Given the description of an element on the screen output the (x, y) to click on. 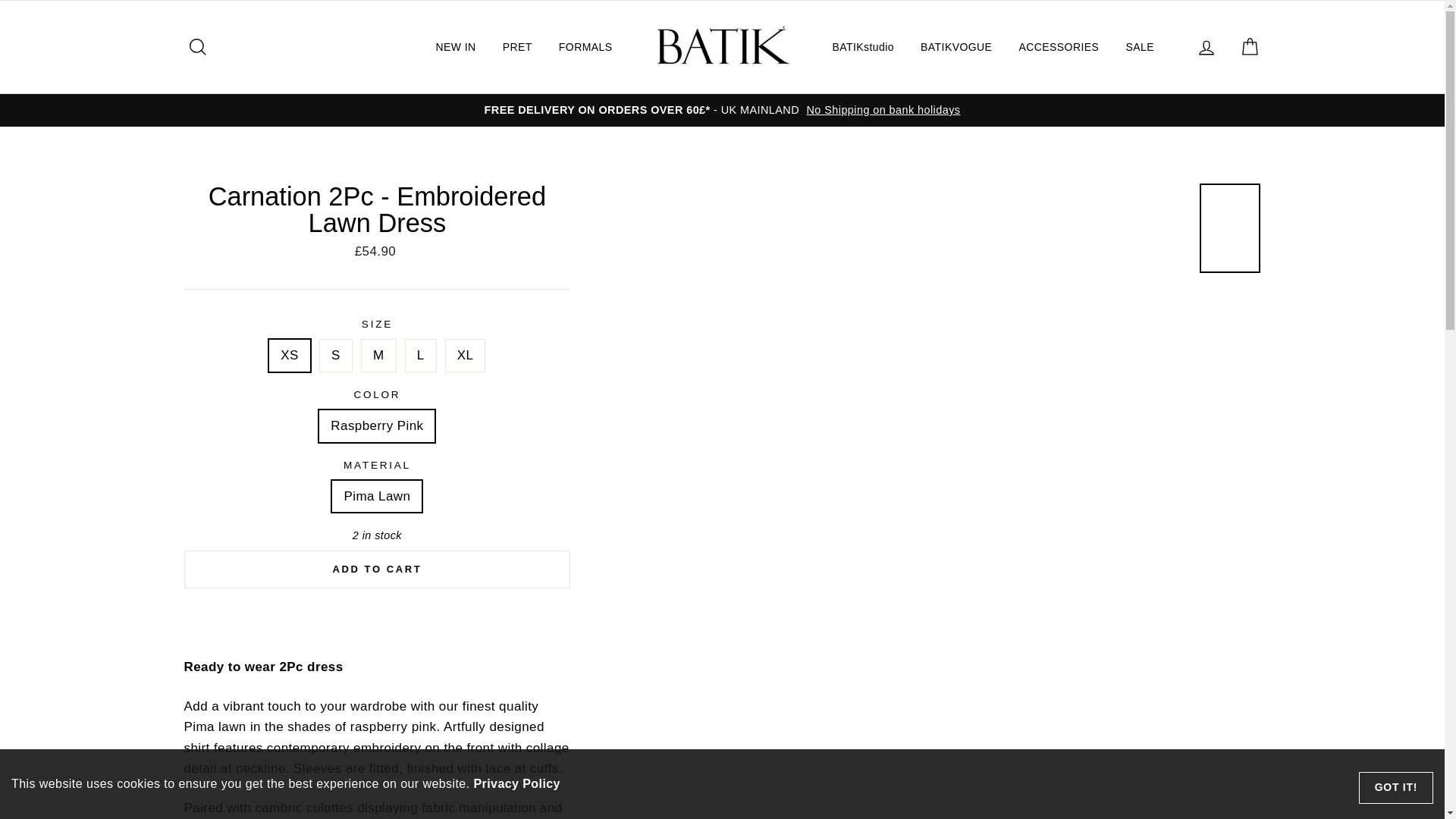
Log in (1205, 46)
ACCESSORIES (1058, 46)
Search (191, 47)
BATIKVOGUE (955, 46)
NEW IN (454, 46)
Privacy Policy (516, 783)
FORMALS (585, 46)
PRET (517, 46)
BATIKstudio (862, 46)
